Given the description of an element on the screen output the (x, y) to click on. 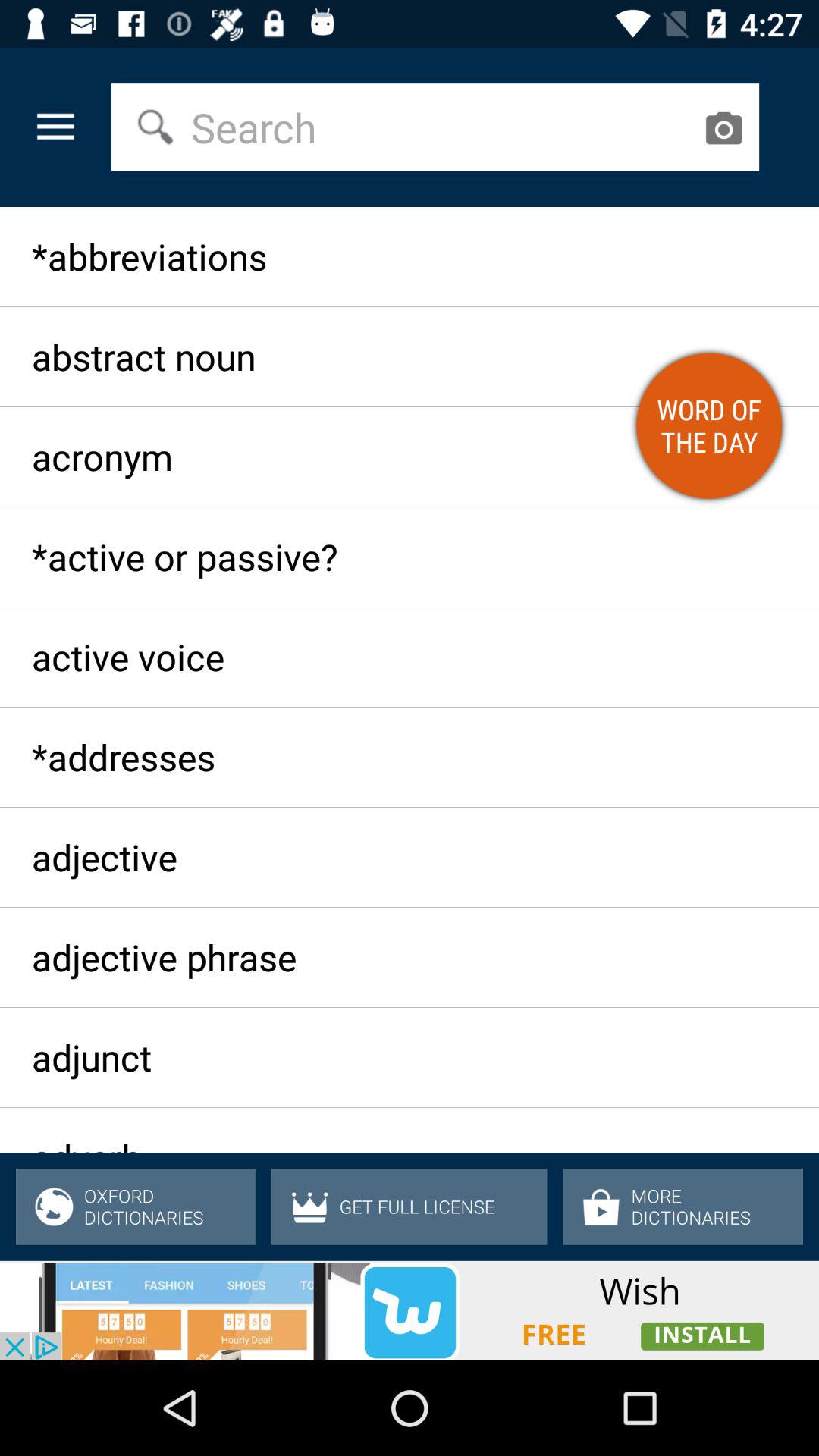
add banner (409, 1310)
